Given the description of an element on the screen output the (x, y) to click on. 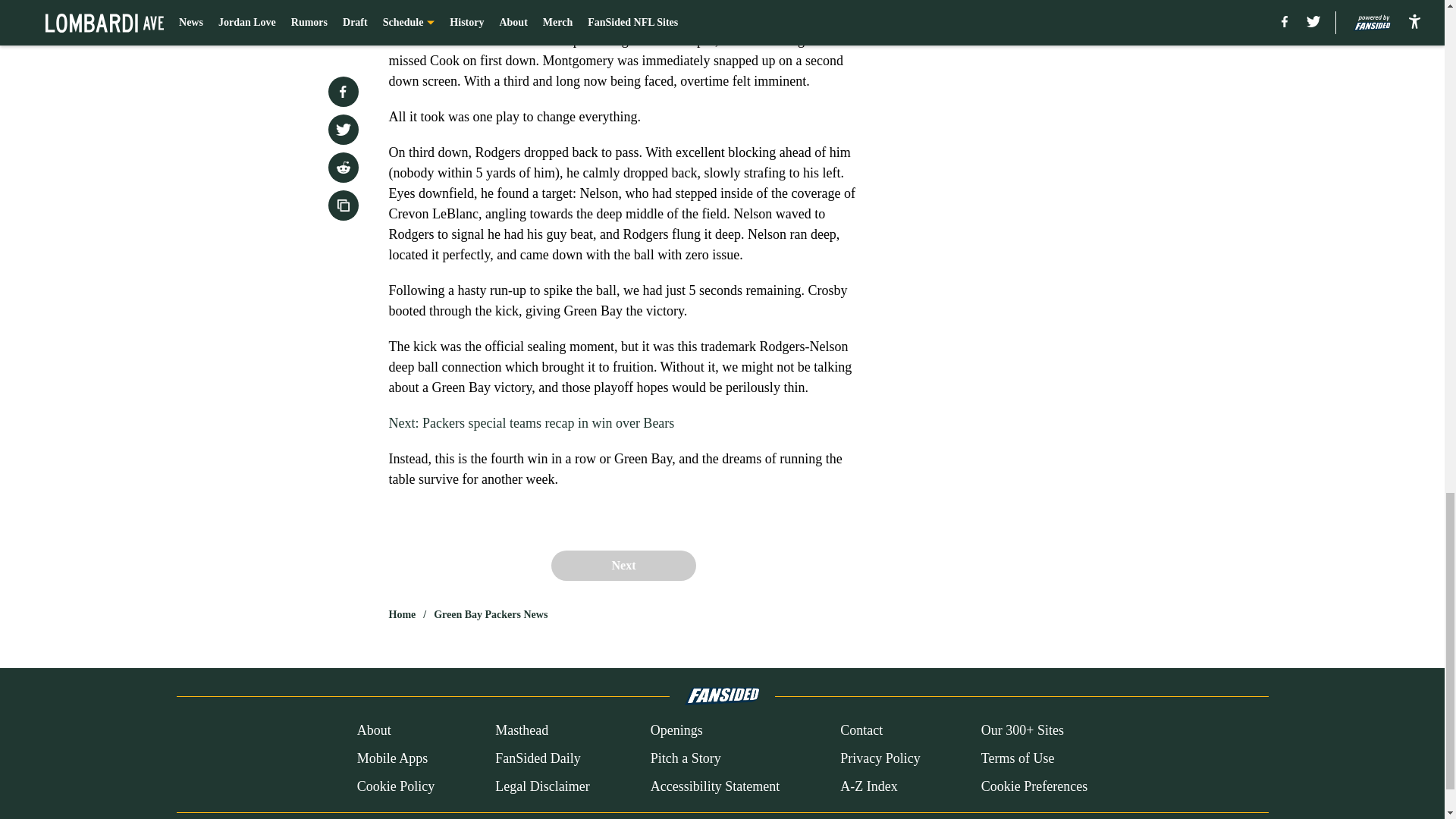
Contact (861, 730)
Next: Packers special teams recap in win over Bears (531, 422)
FanSided Daily (537, 758)
Openings (676, 730)
Masthead (521, 730)
Pitch a Story (685, 758)
Home (401, 614)
Cookie Policy (395, 786)
Green Bay Packers News (490, 614)
Next (622, 565)
Terms of Use (1017, 758)
Mobile Apps (392, 758)
About (373, 730)
Privacy Policy (880, 758)
